Given the description of an element on the screen output the (x, y) to click on. 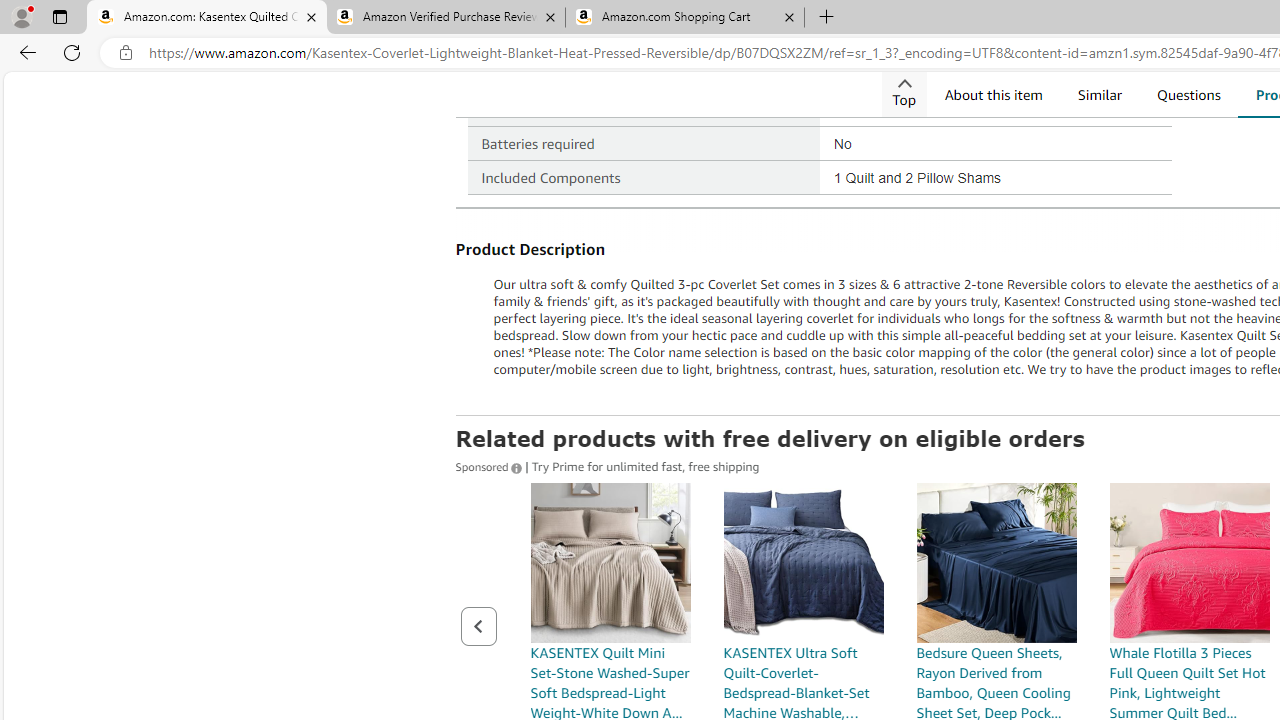
Previous page of related Sponsored Products (477, 625)
Amazon.com Shopping Cart (684, 17)
About this item (992, 94)
